Given the description of an element on the screen output the (x, y) to click on. 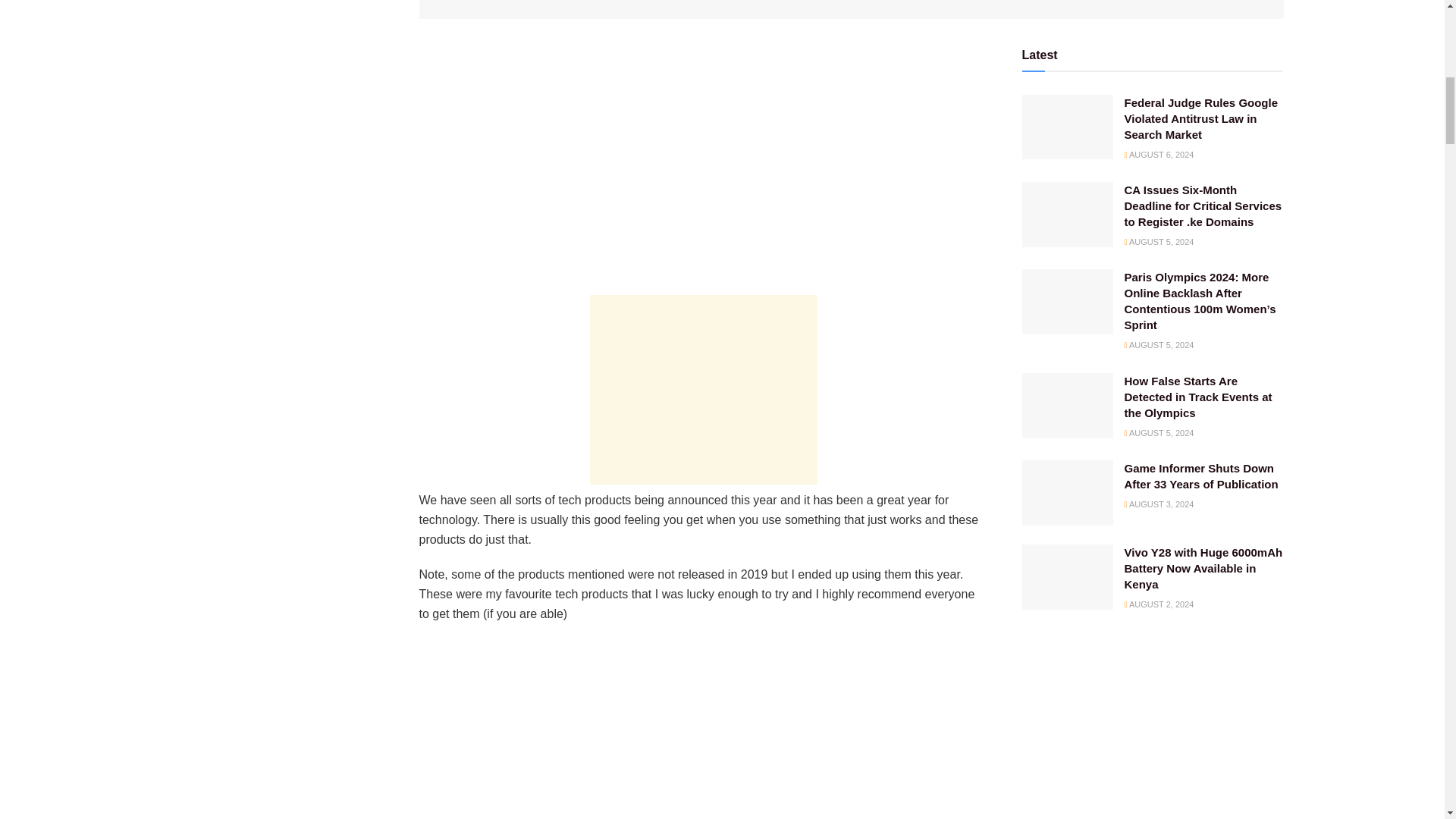
How to Stop All Promotional Messages on Your Safaricom Line (160, 4)
